Given the description of an element on the screen output the (x, y) to click on. 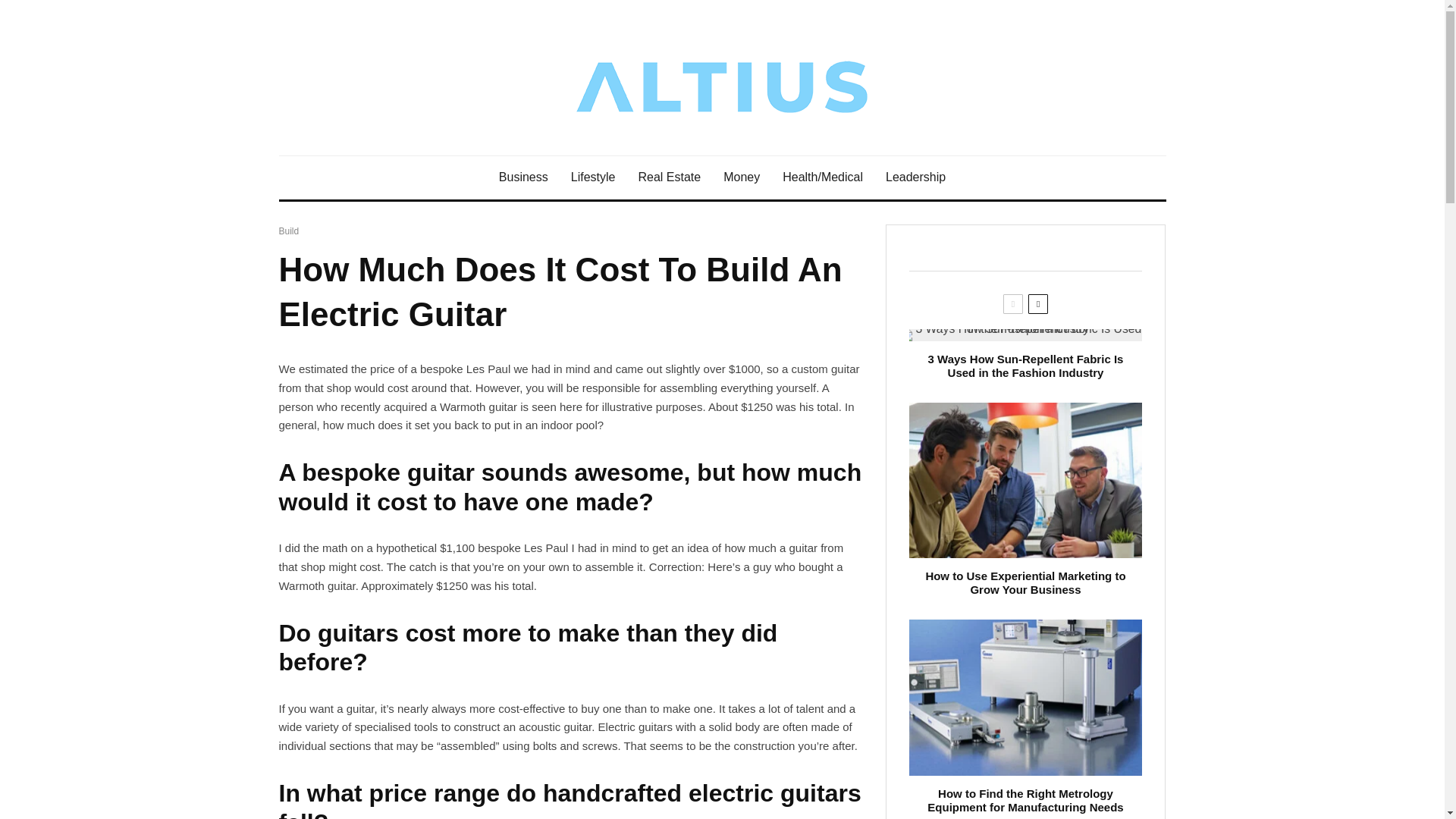
Real Estate (668, 177)
Lifestyle (593, 177)
Business (523, 177)
Money (741, 177)
